Given the description of an element on the screen output the (x, y) to click on. 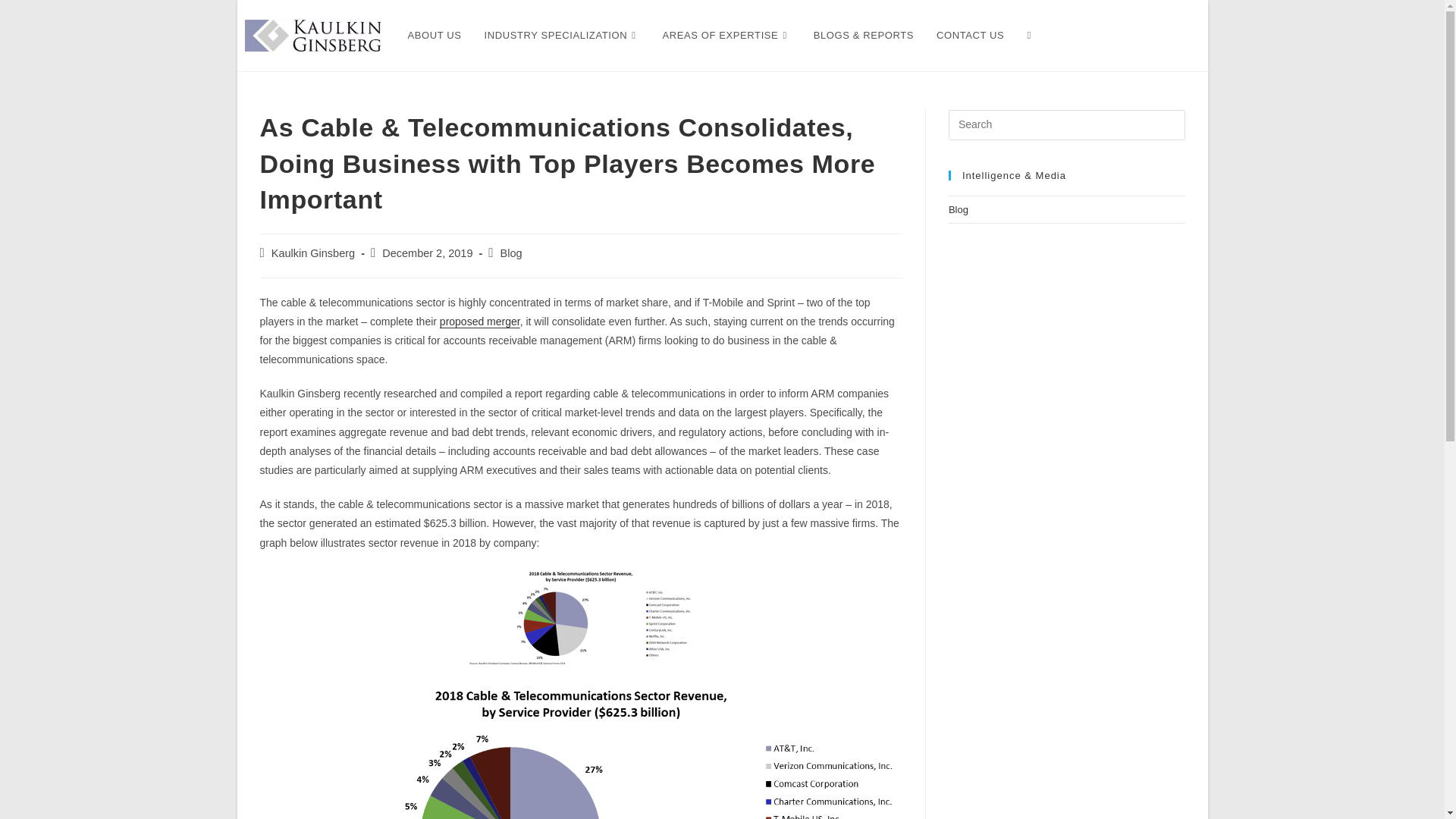
Blog (958, 209)
Posts by Kaulkin Ginsberg (312, 253)
CONTACT US (969, 35)
Blog (511, 253)
INDUSTRY SPECIALIZATION (561, 35)
Kaulkin Ginsberg (312, 253)
ABOUT US (433, 35)
proposed merger (479, 321)
AREAS OF EXPERTISE (726, 35)
